Given the description of an element on the screen output the (x, y) to click on. 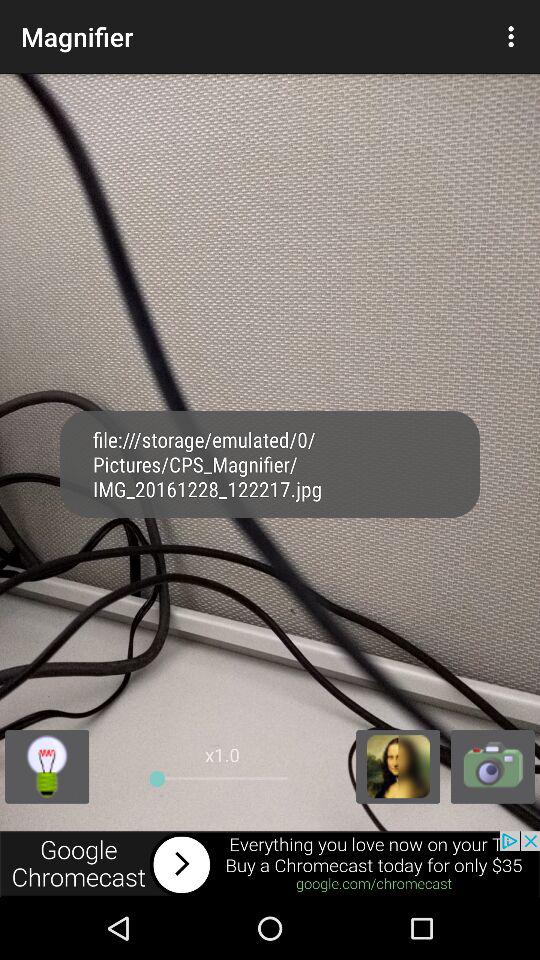
for advertisement (270, 864)
